Given the description of an element on the screen output the (x, y) to click on. 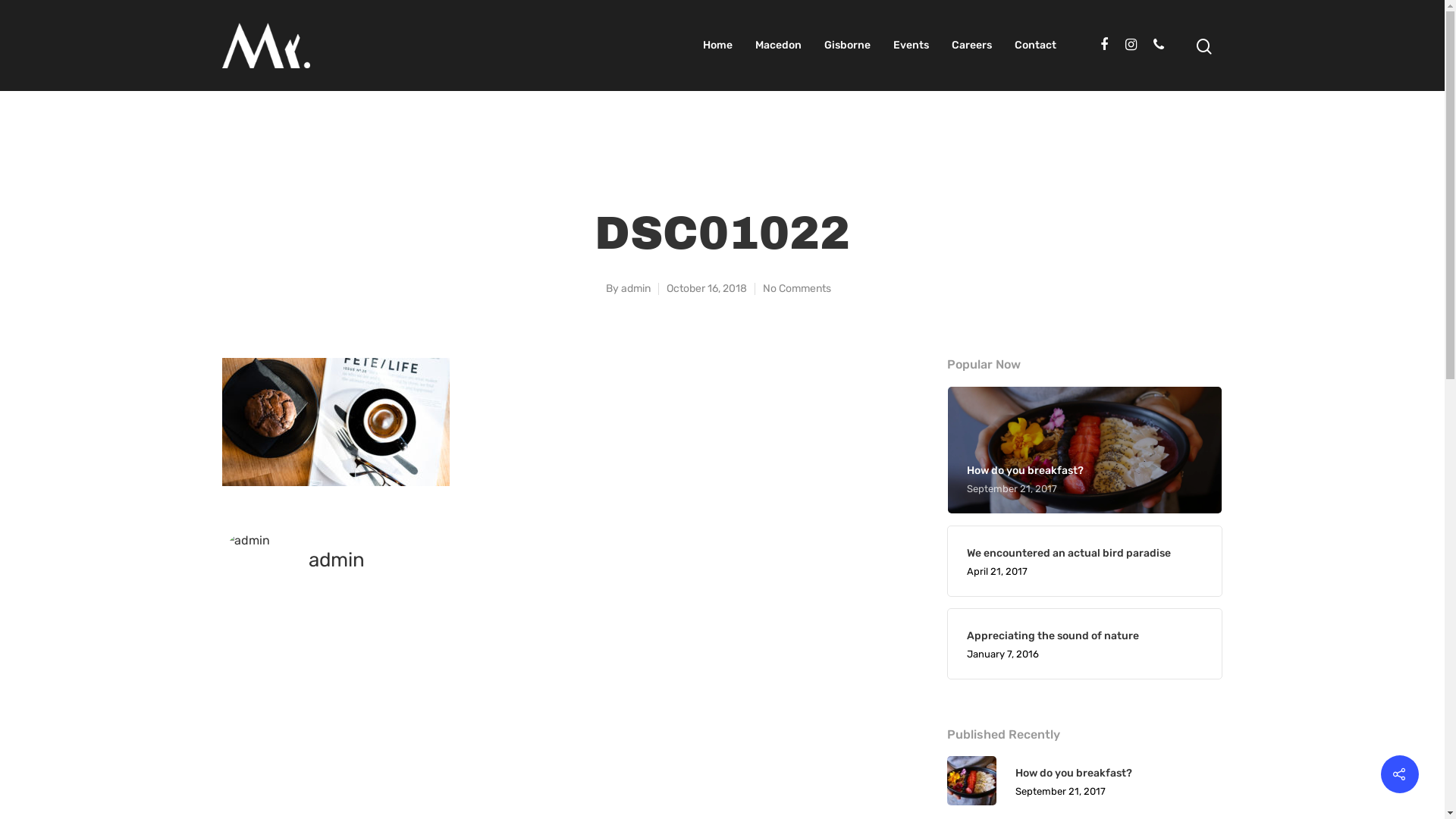
We encountered an actual bird paradise
April 21, 2017 Element type: text (1084, 561)
Appreciating the sound of nature
January 7, 2016 Element type: text (1084, 643)
admin Element type: text (635, 288)
admin Element type: text (335, 559)
How do you breakfast?
September 21, 2017 Element type: text (1084, 780)
Gisborne Element type: text (846, 45)
Careers Element type: text (970, 45)
Events Element type: text (910, 45)
Contact Element type: text (1035, 45)
Home Element type: text (716, 45)
How do you breakfast?
September 21, 2017 Element type: text (1084, 478)
No Comments Element type: text (796, 288)
Macedon Element type: text (778, 45)
